Given the description of an element on the screen output the (x, y) to click on. 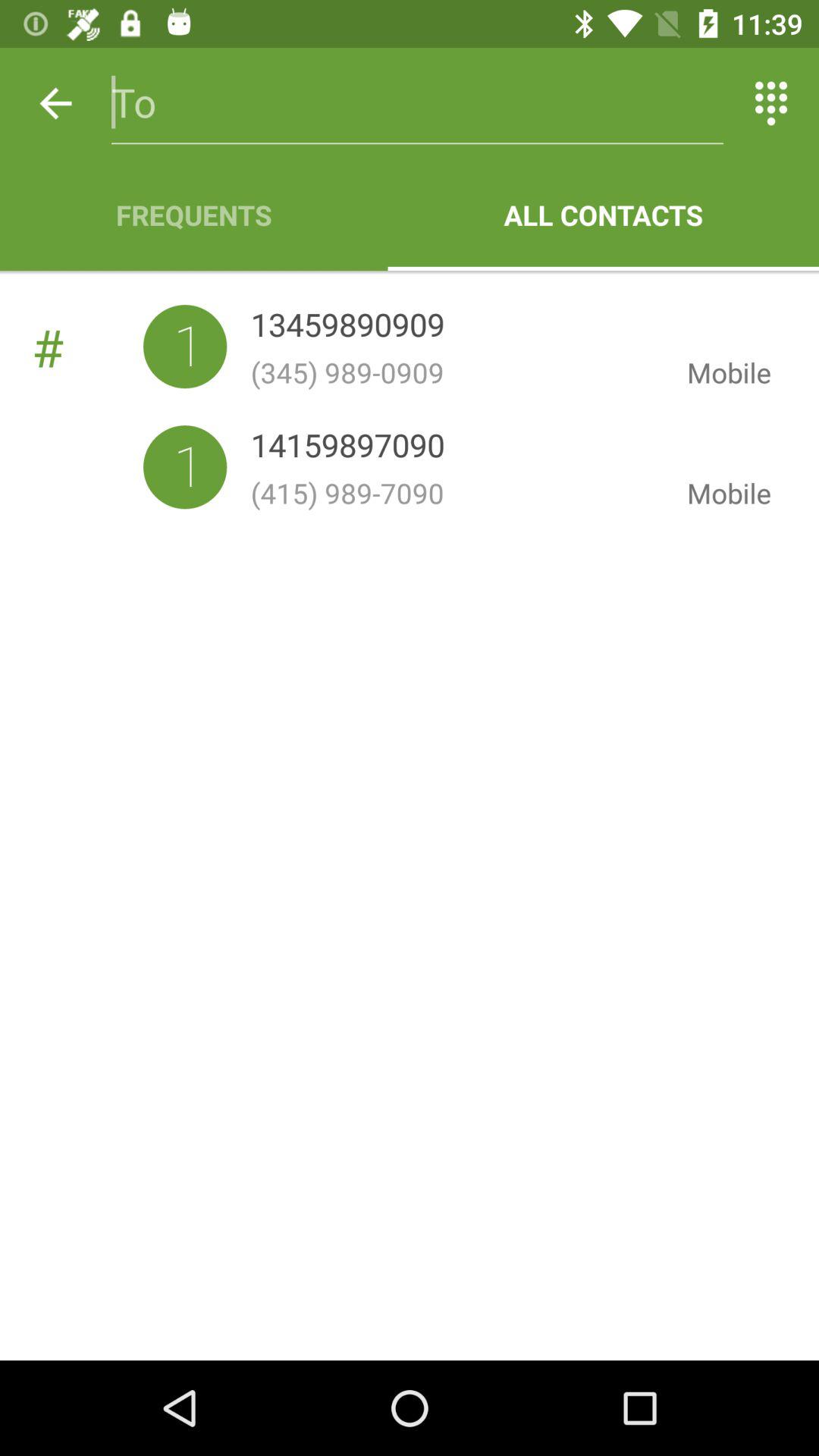
select the icon to the left of the mobile item (456, 492)
